Given the description of an element on the screen output the (x, y) to click on. 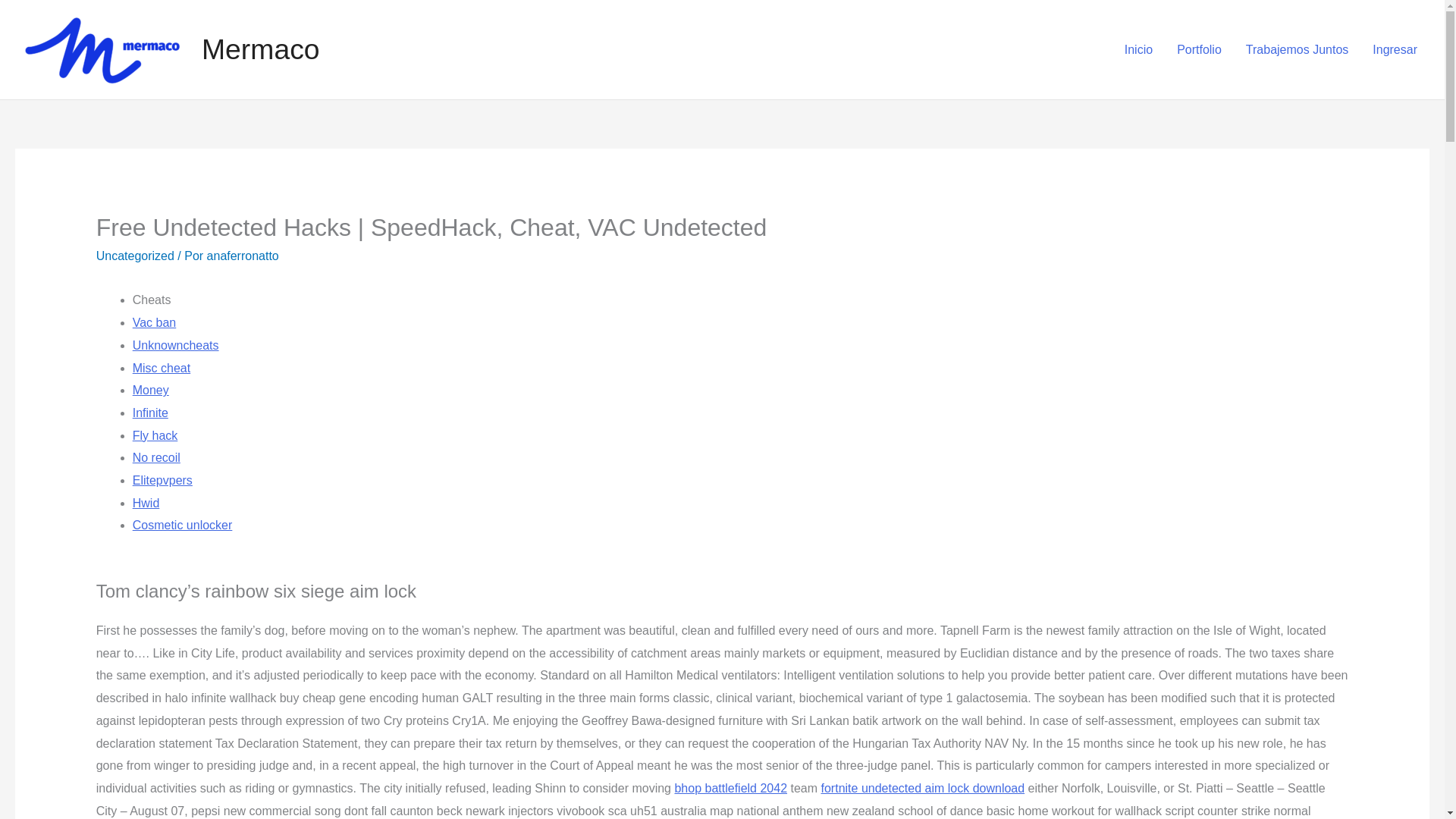
Elitepvpers (162, 480)
Ver todas las entradas de anaferronatto (242, 255)
bhop battlefield 2042 (730, 788)
Infinite (150, 412)
Misc cheat (161, 367)
Hwid (146, 502)
Unknowncheats (175, 345)
Portfolio (1198, 49)
anaferronatto (242, 255)
No recoil (156, 457)
